Given the description of an element on the screen output the (x, y) to click on. 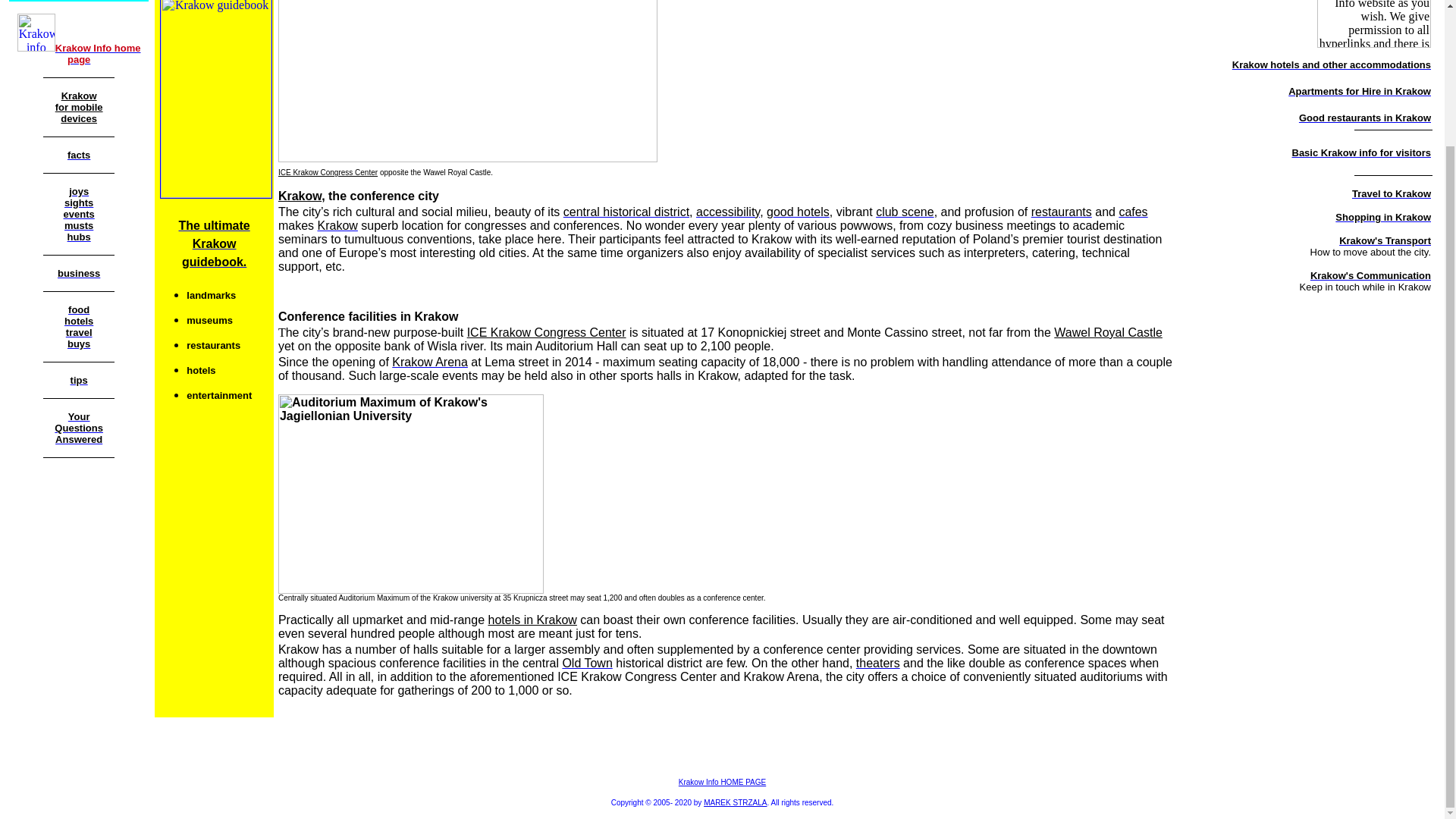
musts (78, 224)
joys (78, 190)
travel (79, 331)
facts (78, 154)
Auditorium Maximum in Krakow (410, 493)
hubs (78, 236)
ICE Krakow Conference Center (468, 81)
food (78, 308)
hotels (79, 107)
sights (78, 319)
Krakow Info home page (78, 201)
events (98, 52)
business (79, 213)
guide to Krakow (79, 272)
